Given the description of an element on the screen output the (x, y) to click on. 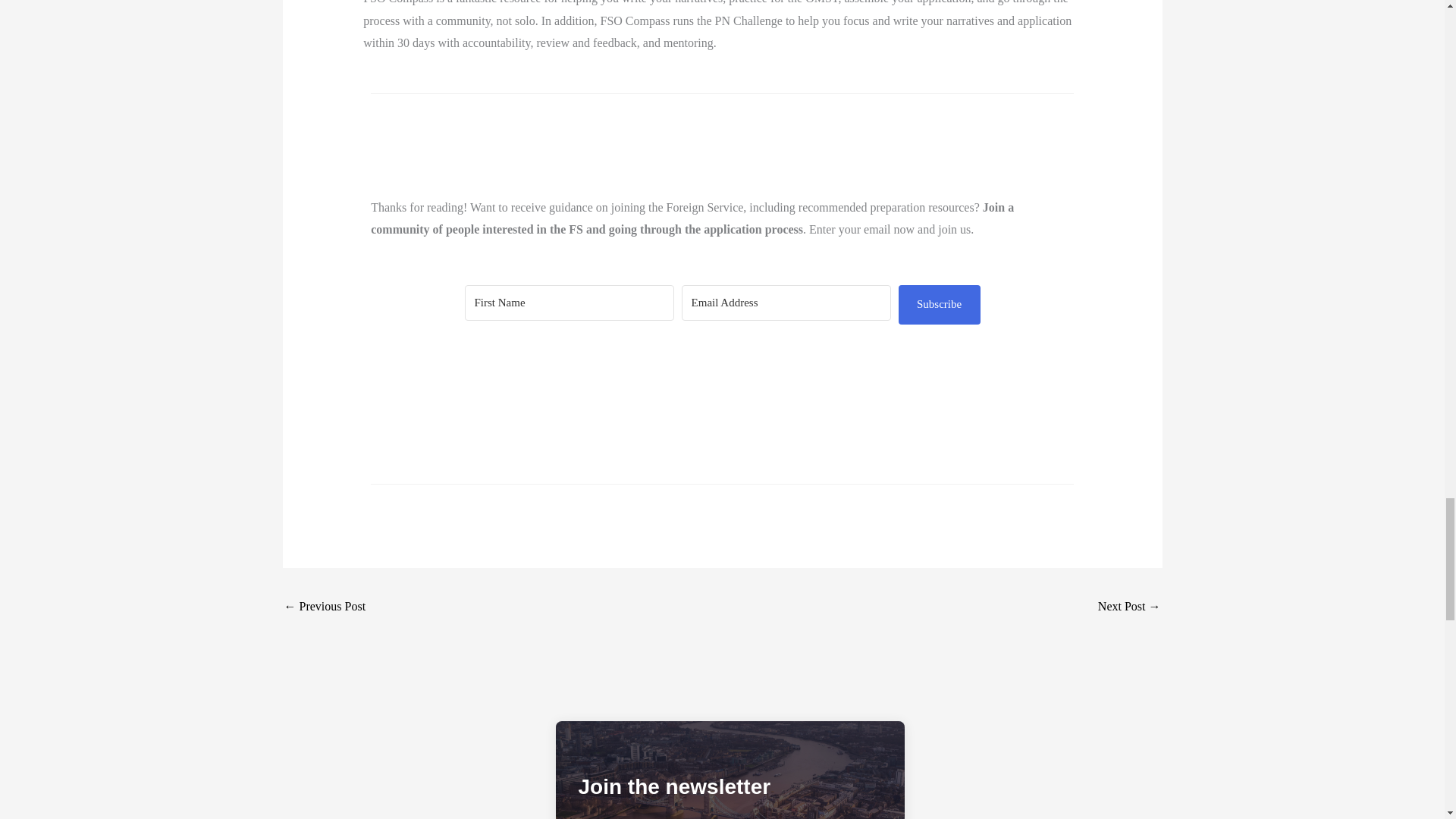
Master the Consular Fellow Personal Narratives: A Guide (1128, 607)
Subscribe (938, 304)
